Given the description of an element on the screen output the (x, y) to click on. 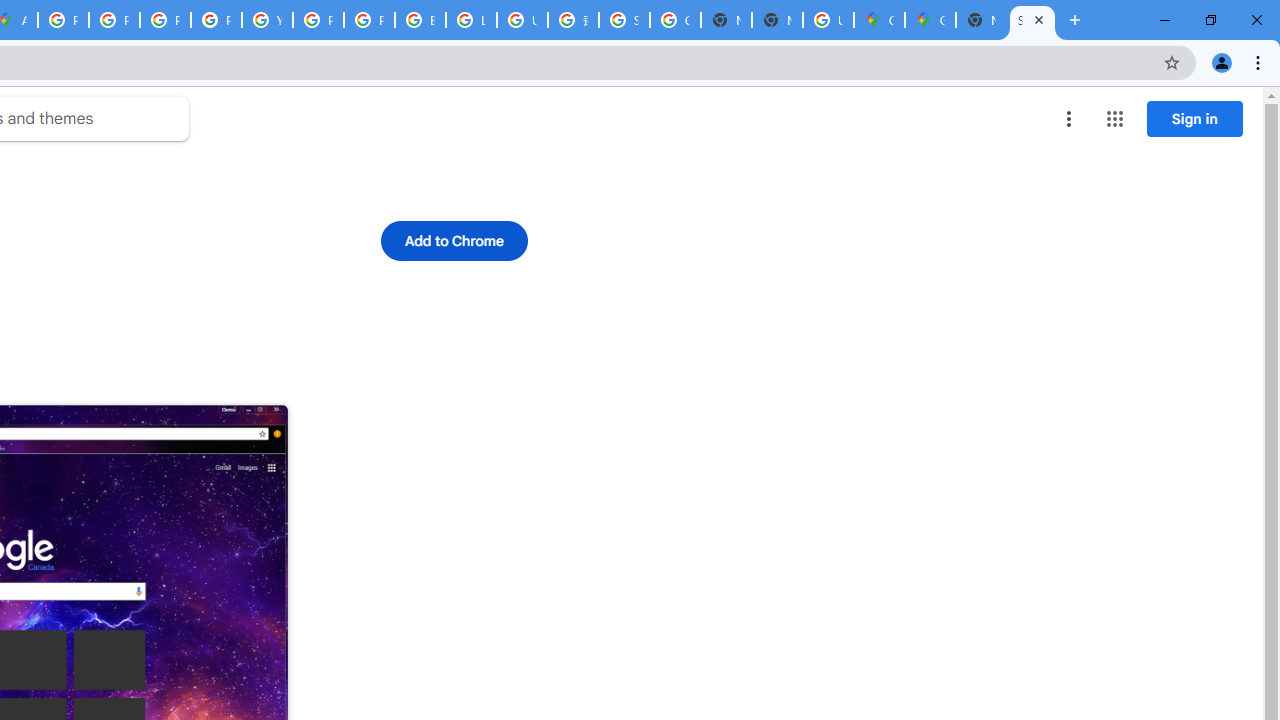
Privacy Help Center - Policies Help (164, 20)
Sign in - Google Accounts (624, 20)
Space Nebula - Chrome Web Store (1032, 20)
More options menu (1069, 118)
YouTube (267, 20)
